Given the description of an element on the screen output the (x, y) to click on. 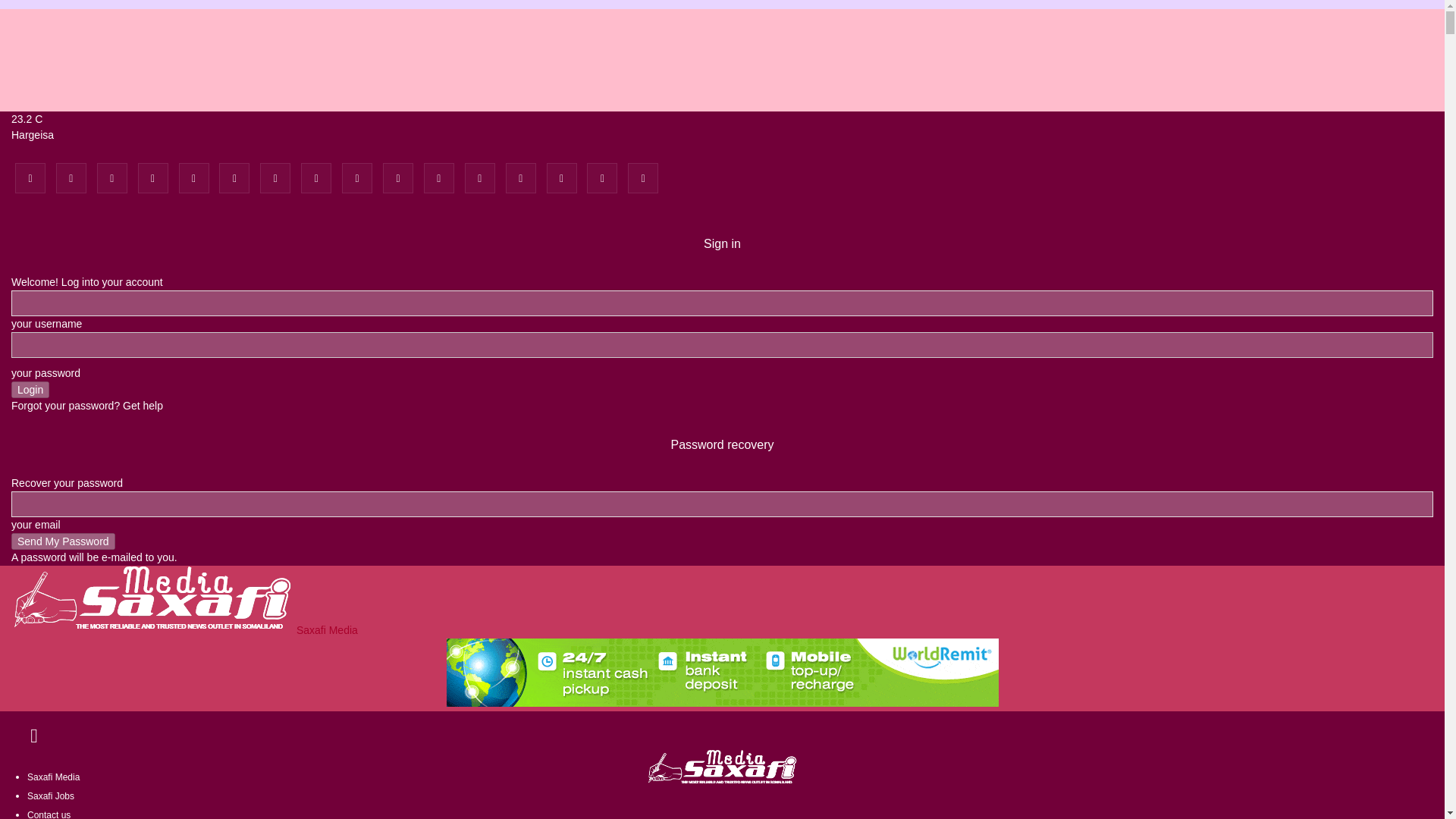
Send My Password (63, 541)
Saxafi Media (184, 630)
Forgot your password? Get help (87, 405)
Login (30, 389)
